Given the description of an element on the screen output the (x, y) to click on. 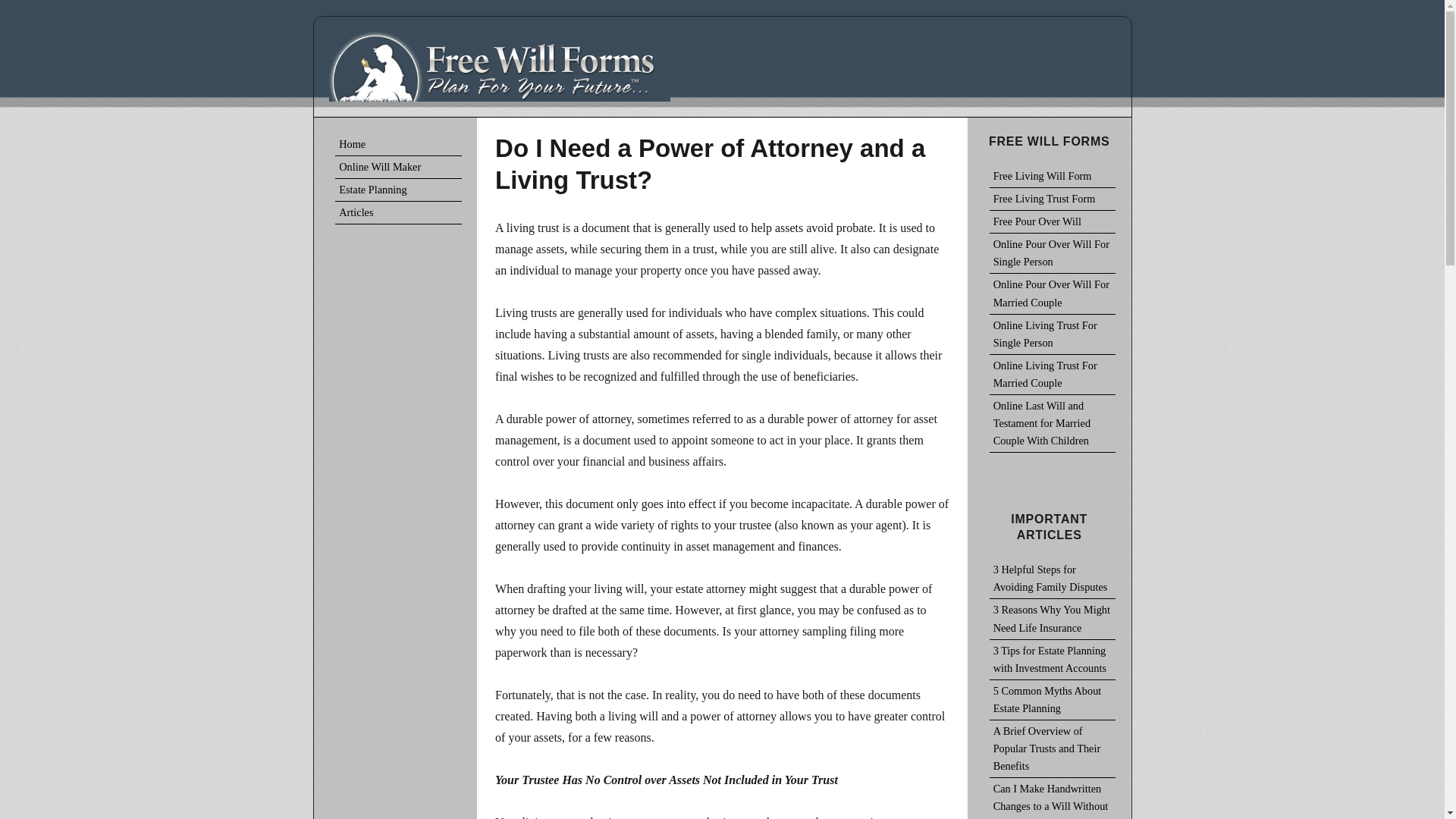
A Brief Overview of Popular Trusts and Their Benefits (1053, 749)
Articles (397, 212)
Advertisement (397, 808)
Online Pour Over Will For Single Person (1053, 253)
Estate Planning (397, 190)
Online Living Trust For Single Person (1053, 334)
3 Tips for Estate Planning with Investment Accounts (1053, 659)
Online Living Trust For Married Couple (1053, 374)
Online Pour Over Will For Married Couple (1053, 293)
Online Will Maker (397, 167)
Free Living Trust Form (1053, 199)
Free Pour Over Will (1053, 221)
3 Helpful Steps for Avoiding Family Disputes (1053, 578)
3 Reasons Why You Might Need Life Insurance (1053, 618)
